Given the description of an element on the screen output the (x, y) to click on. 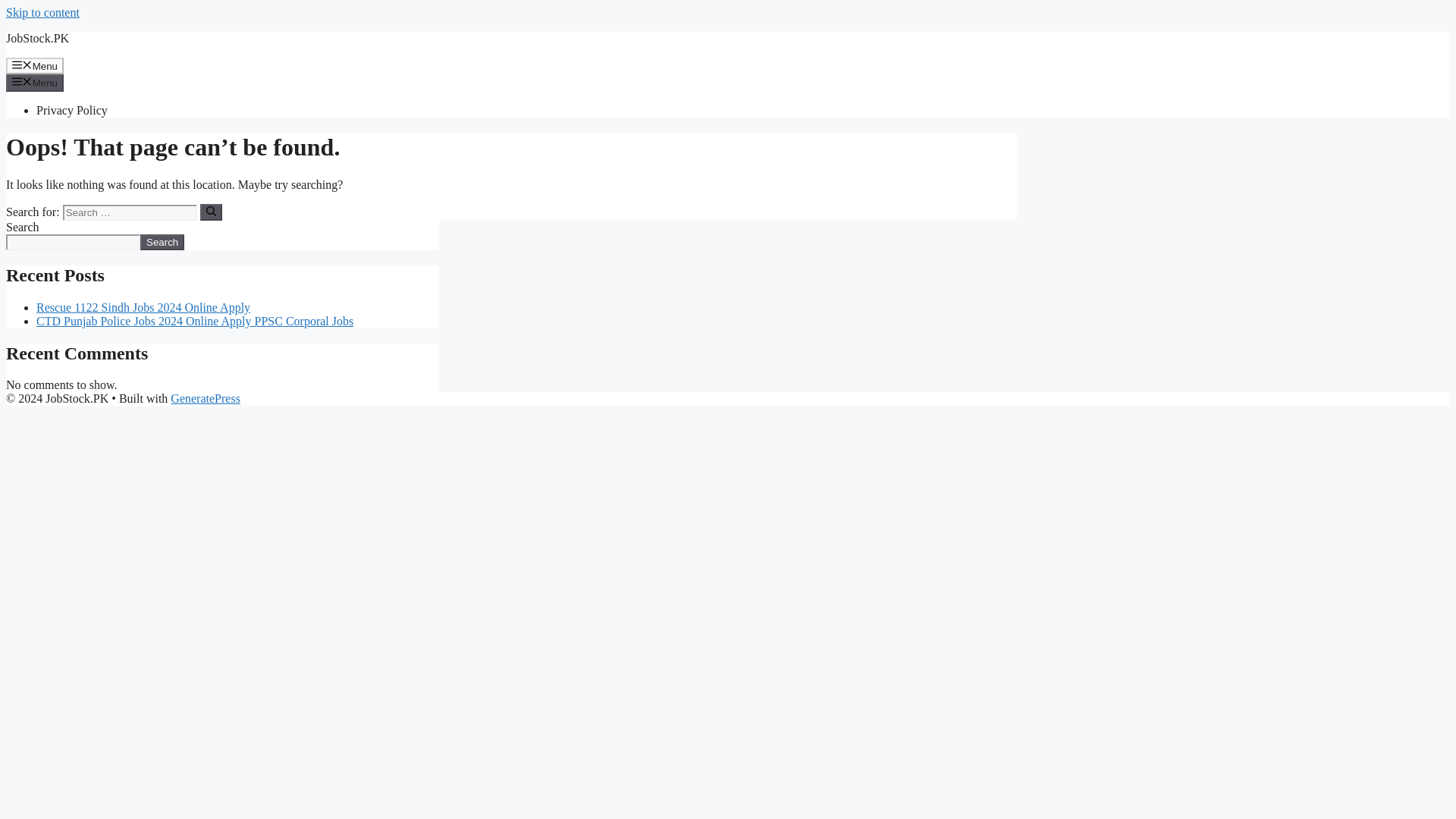
Search for: (129, 212)
Skip to content (42, 11)
CTD Punjab Police Jobs 2024 Online Apply PPSC Corporal Jobs (194, 320)
JobStock.PK (36, 38)
Privacy Policy (71, 110)
Menu (34, 82)
Menu (34, 65)
Rescue 1122 Sindh Jobs 2024 Online Apply (143, 307)
Search (161, 242)
Skip to content (42, 11)
